Given the description of an element on the screen output the (x, y) to click on. 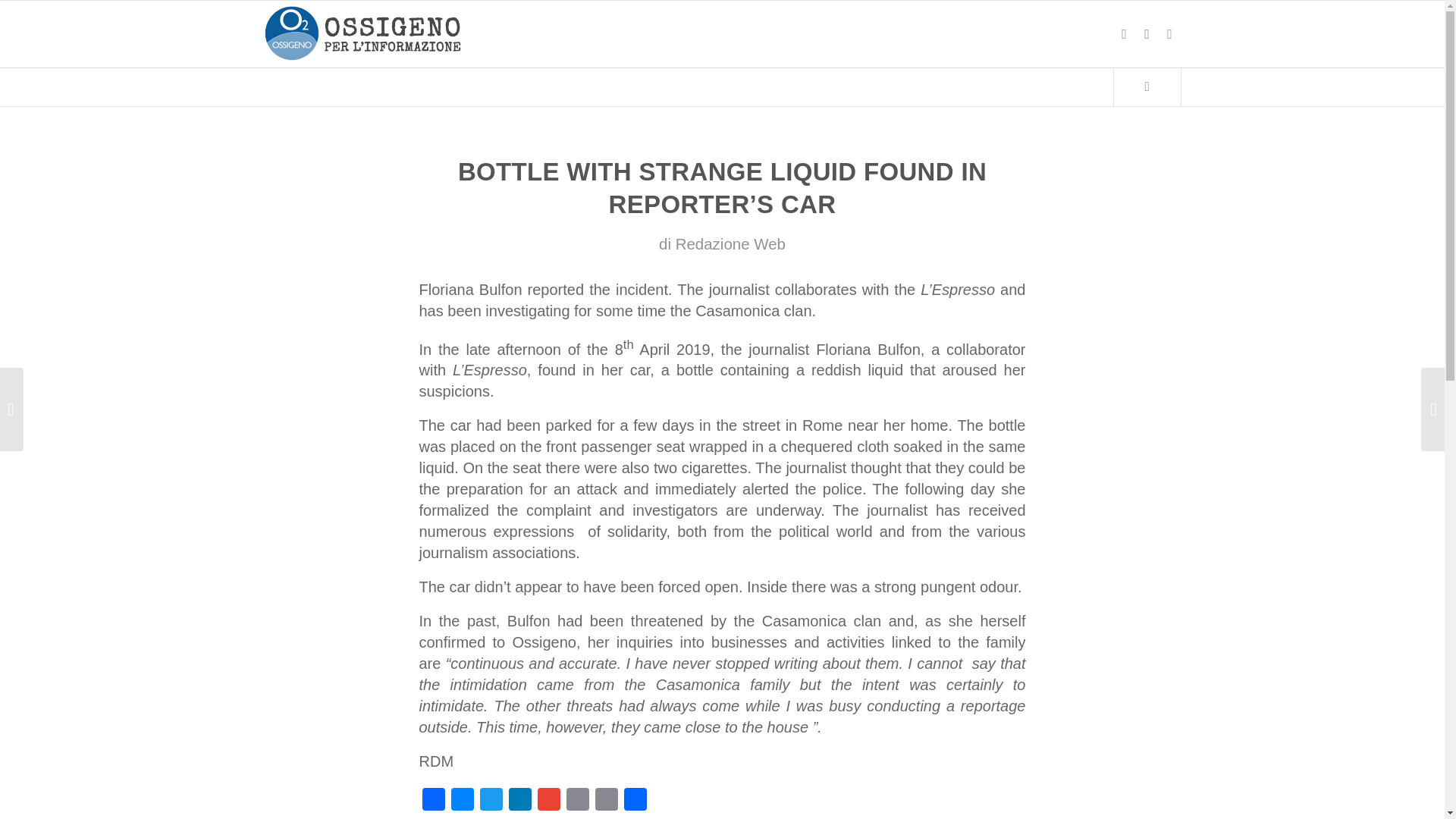
Gmail (548, 802)
Messenger (461, 802)
Email (576, 802)
Share (634, 802)
Gmail (548, 802)
Copy Link (605, 802)
Twitter (490, 802)
Facebook (432, 802)
Email (576, 802)
LinkedIn (519, 802)
